Given the description of an element on the screen output the (x, y) to click on. 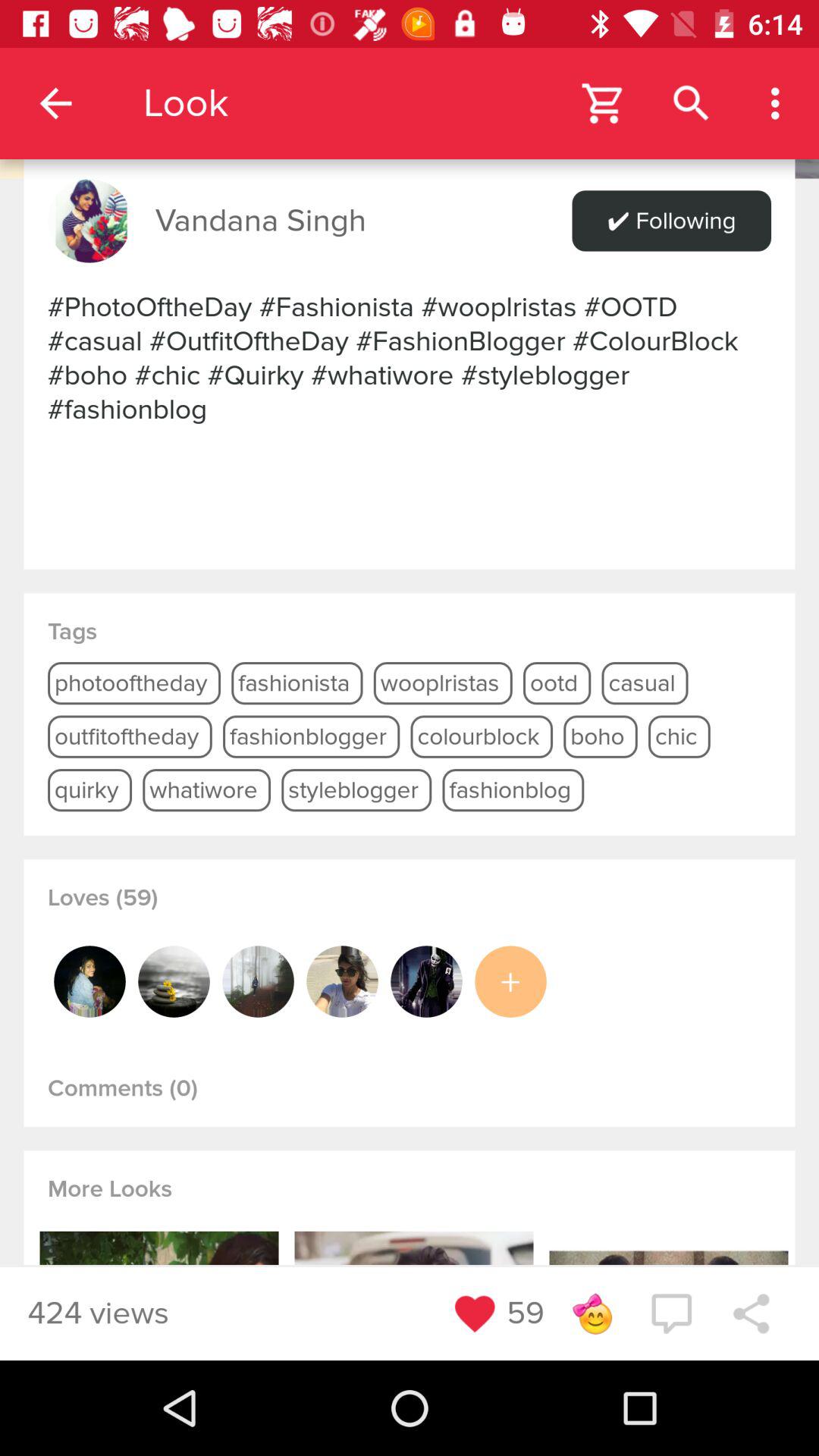
add likes (510, 981)
